Given the description of an element on the screen output the (x, y) to click on. 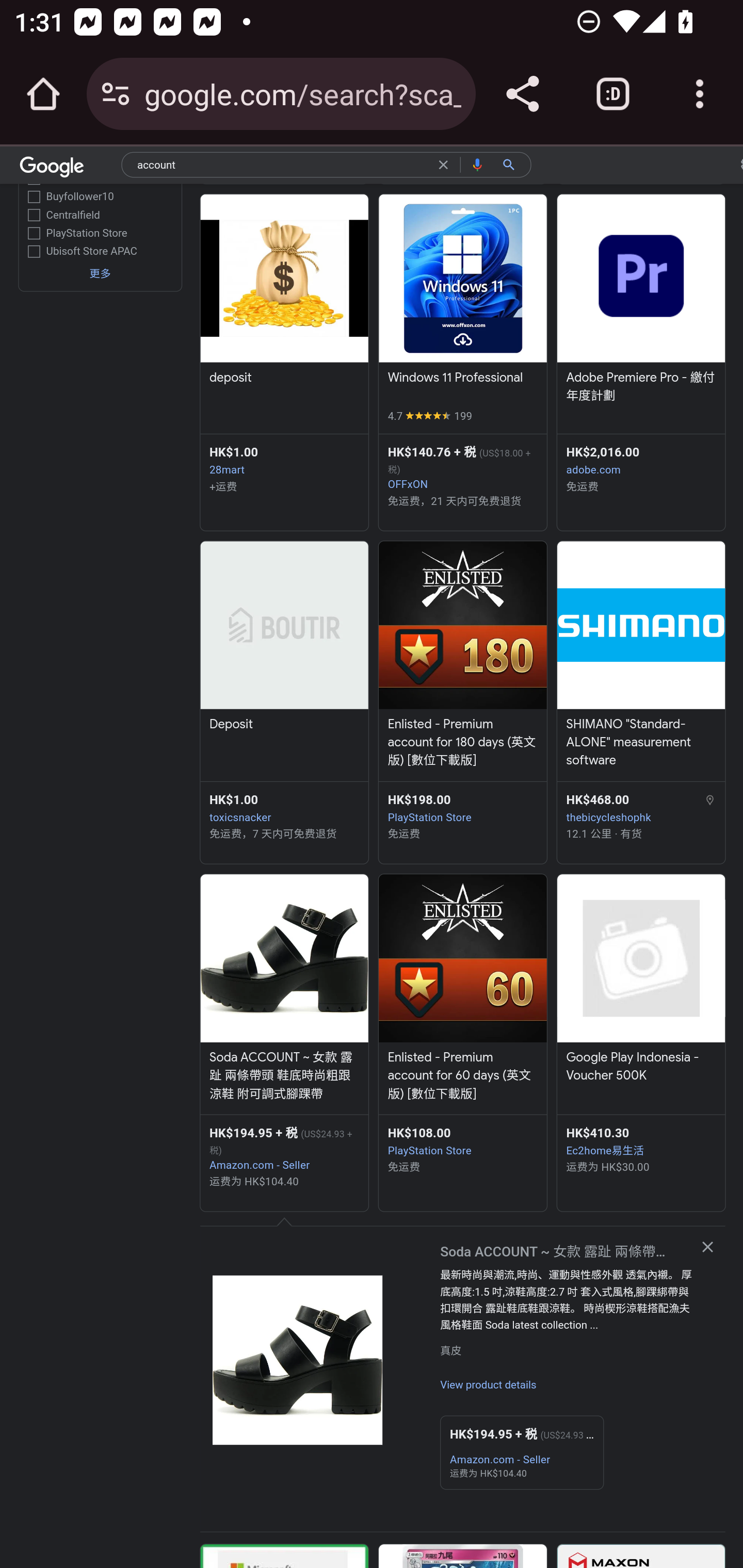
Open the home page (43, 93)
Connection is secure (115, 93)
Share (522, 93)
Switch or close tabs (612, 93)
Customize and control Google Chrome (699, 93)
清除 (446, 164)
按语音搜索 (478, 164)
Google 搜索 (513, 164)
Google (52, 168)
account (282, 166)
deposit (283, 378)
Adobe Premiere Pro - 繳付年度計劃 (640, 387)
HK$1.00. 28mart HK$1.00. 28mart (283, 460)
HK$2,016.00. adobe.com HK$2,016.00. adobe.com (640, 460)
+运费 . 在新窗口中访问28mart的网站 +运费 . 在新窗口中访问28mart的网站 (283, 486)
Deposit (283, 725)
HK$1.00. toxicsnacker HK$1.00. toxicsnacker (283, 808)
Soda ACCOUNT ~ 女款 露趾 兩條帶頭 鞋底時尚粗跟涼鞋 附可調式腳踝帶 (283, 1076)
Google Play Indonesia - Voucher 500K (640, 1066)
HK$410.30. Ec2home易生活 HK$410.30. Ec2home易生活 (640, 1141)
Close (707, 1246)
Opens in a new window (297, 1359)
View product details (487, 1385)
